Given the description of an element on the screen output the (x, y) to click on. 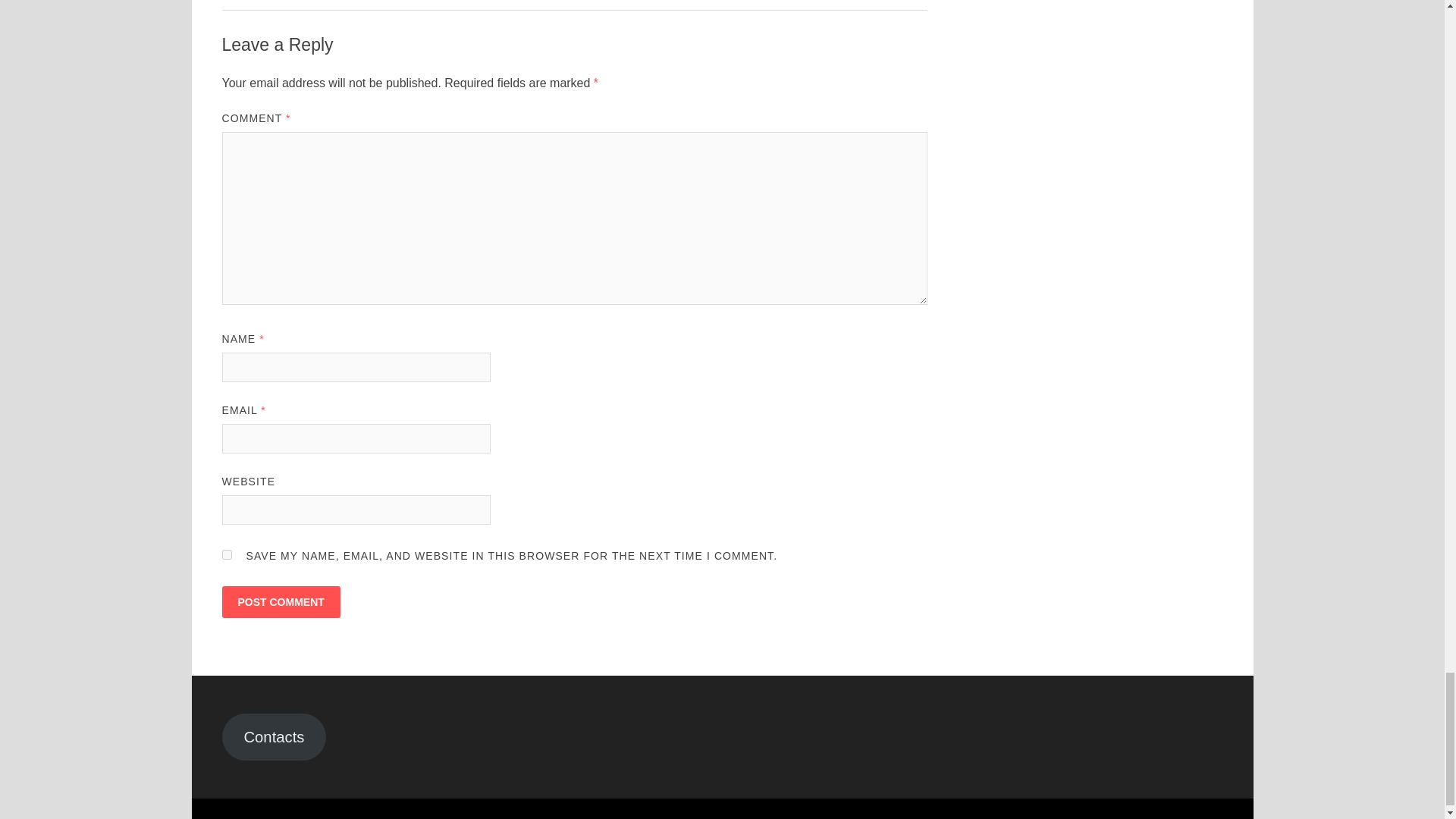
Post Comment (280, 602)
yes (226, 554)
Post Comment (280, 602)
